Given the description of an element on the screen output the (x, y) to click on. 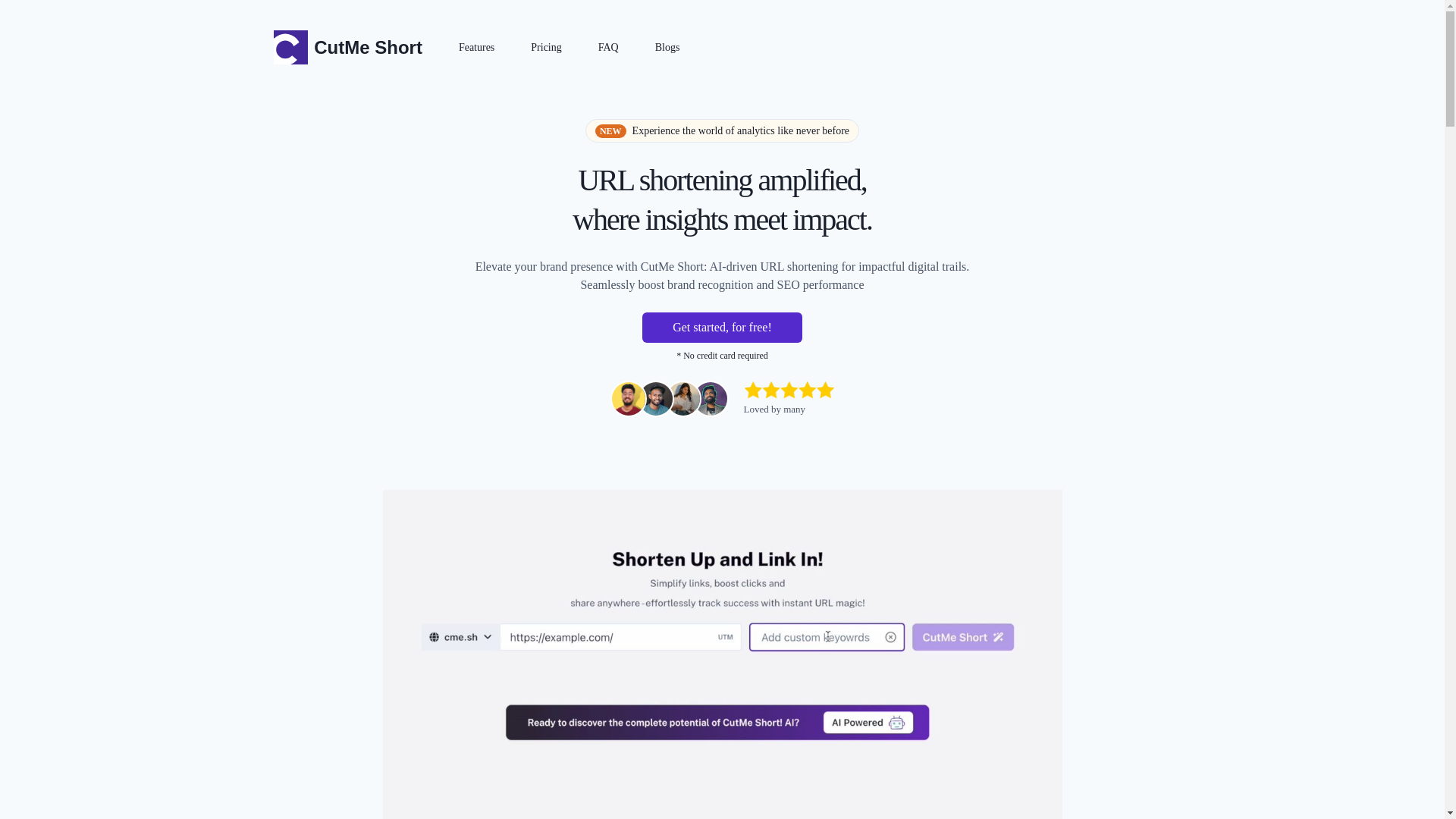
Features (476, 47)
Blogs (668, 47)
Get started, for free! (722, 327)
Pricing (545, 47)
FAQ (608, 47)
CutMe Short (347, 47)
